Given the description of an element on the screen output the (x, y) to click on. 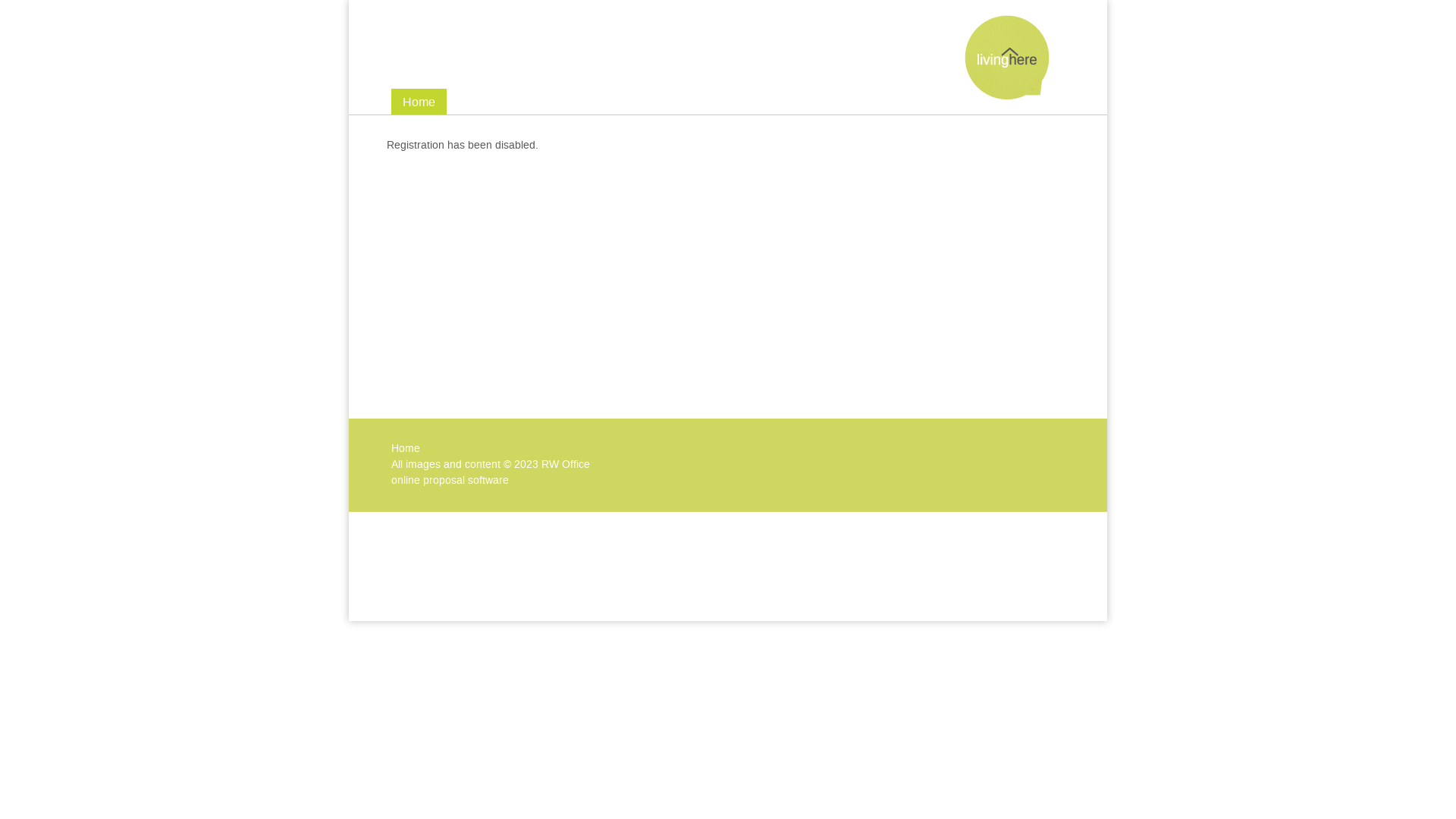
Home Element type: text (405, 448)
online proposal software Element type: text (449, 480)
RW Office -  Element type: hover (1006, 92)
Home Element type: text (418, 101)
